Given the description of an element on the screen output the (x, y) to click on. 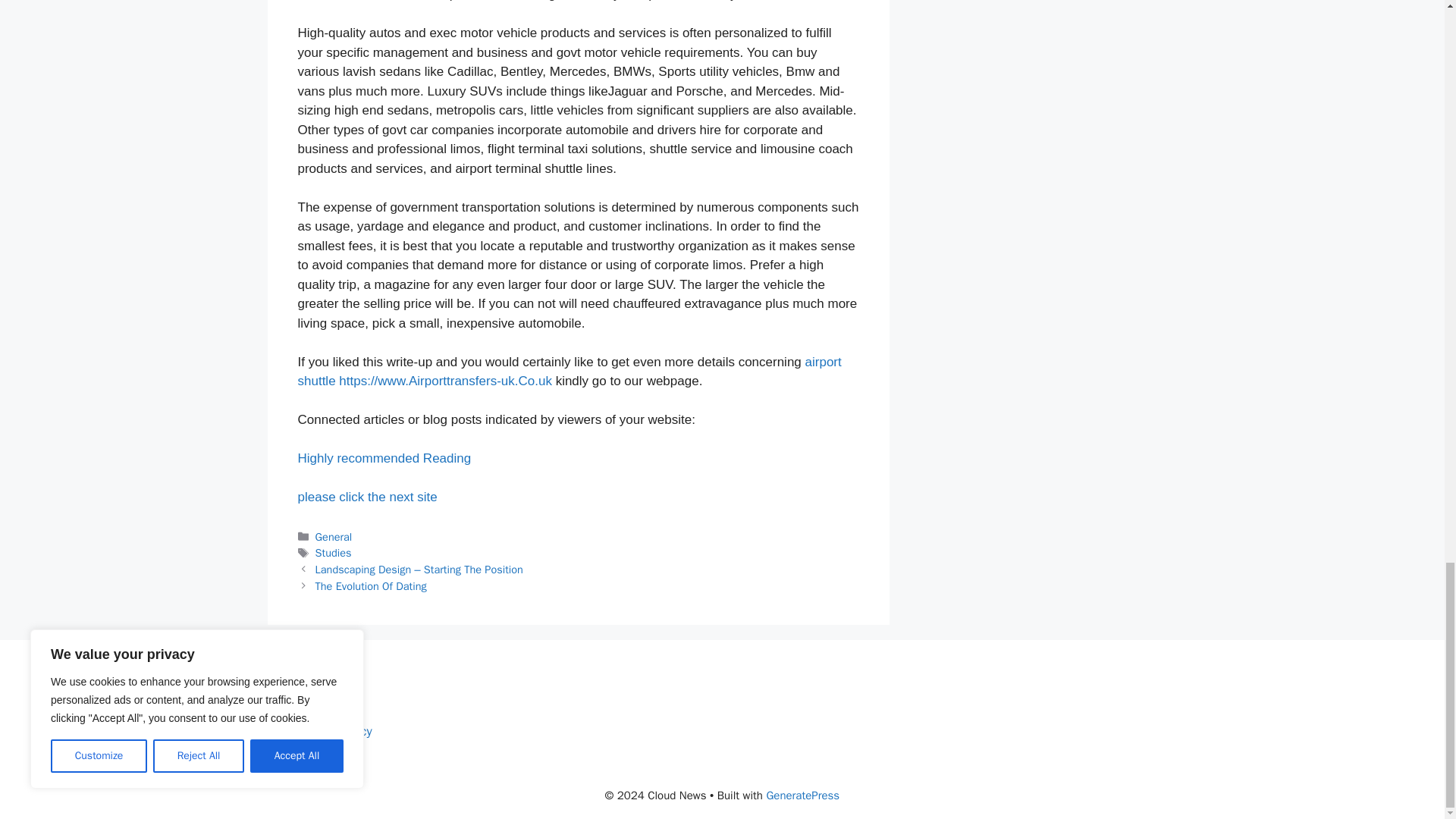
General (333, 536)
Highly recommended Reading (383, 458)
Studies (333, 552)
please click the next site (366, 496)
The Evolution Of Dating (370, 585)
